Given the description of an element on the screen output the (x, y) to click on. 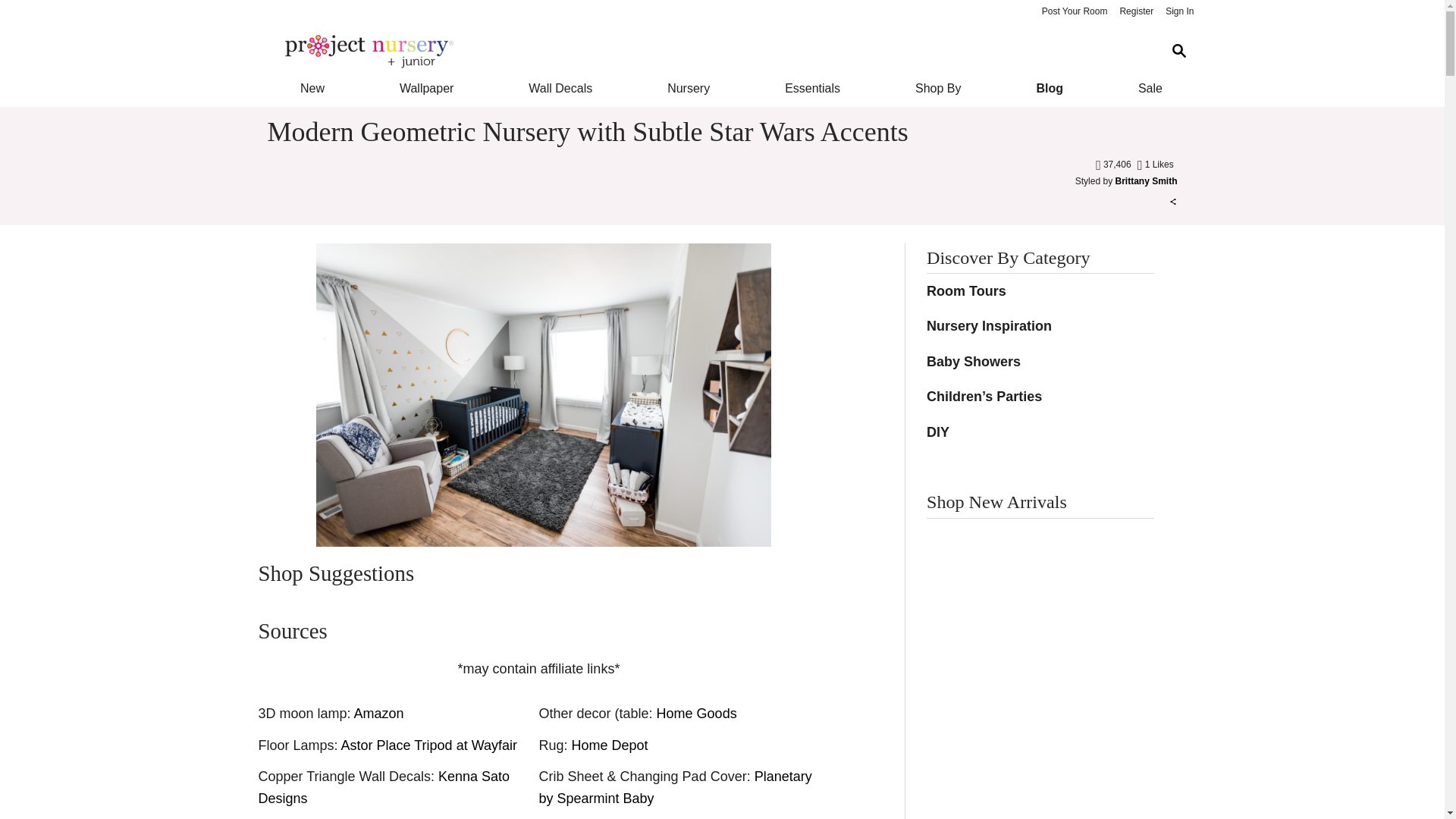
Post Your Room (1074, 11)
Register (1135, 11)
New (311, 88)
Search (1178, 50)
Project Nursery (709, 51)
Views (1115, 163)
Wall Decals (561, 88)
Nursery (689, 88)
Post Your Room (1074, 11)
Sign In (1178, 11)
